Given the description of an element on the screen output the (x, y) to click on. 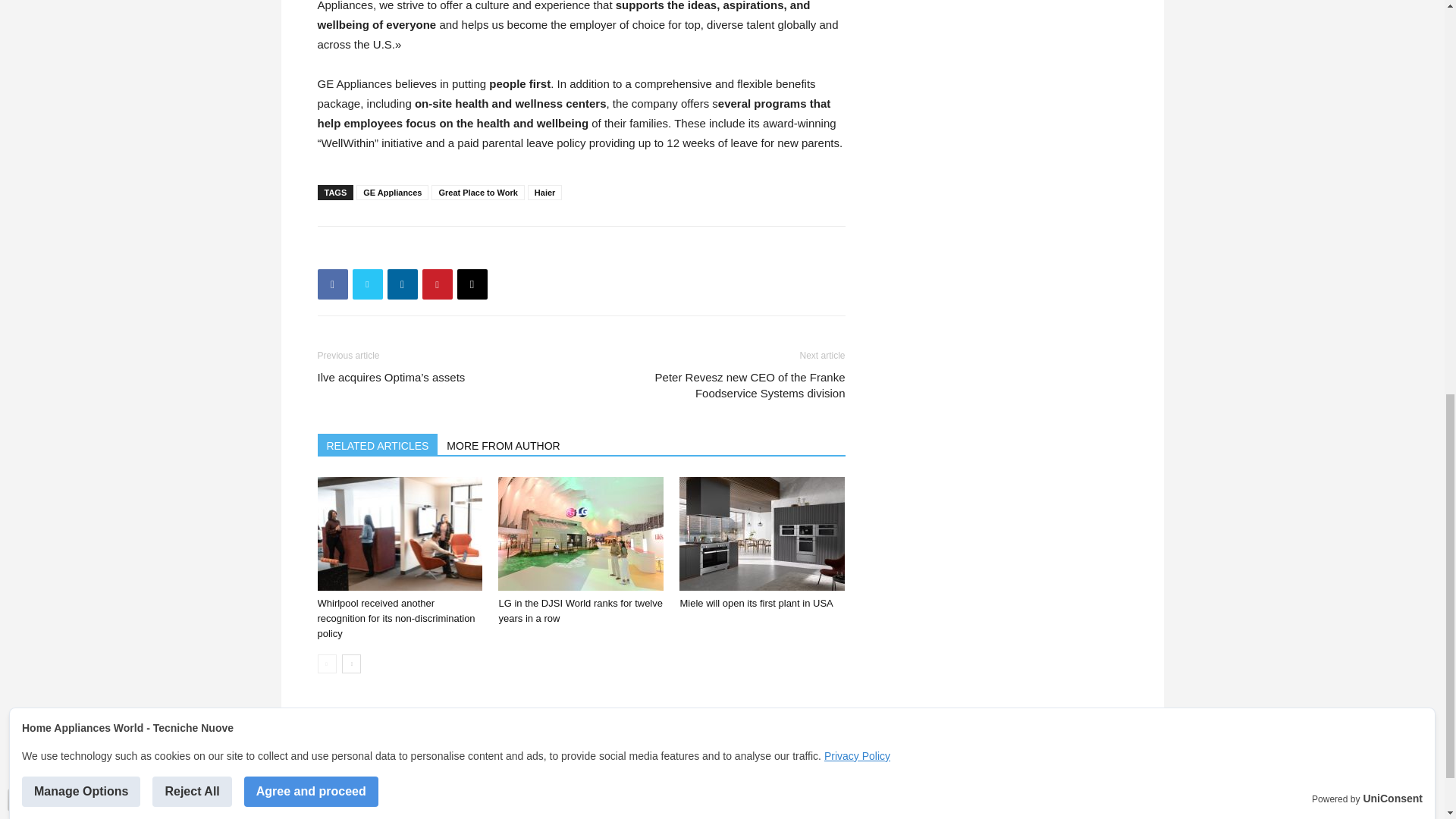
LG in the DJSI World ranks for twelve years in a row (580, 533)
Miele will open its first plant in USA (755, 603)
Miele will open its first plant in USA (761, 533)
LG in the DJSI World ranks for twelve years in a row (579, 610)
